Given the description of an element on the screen output the (x, y) to click on. 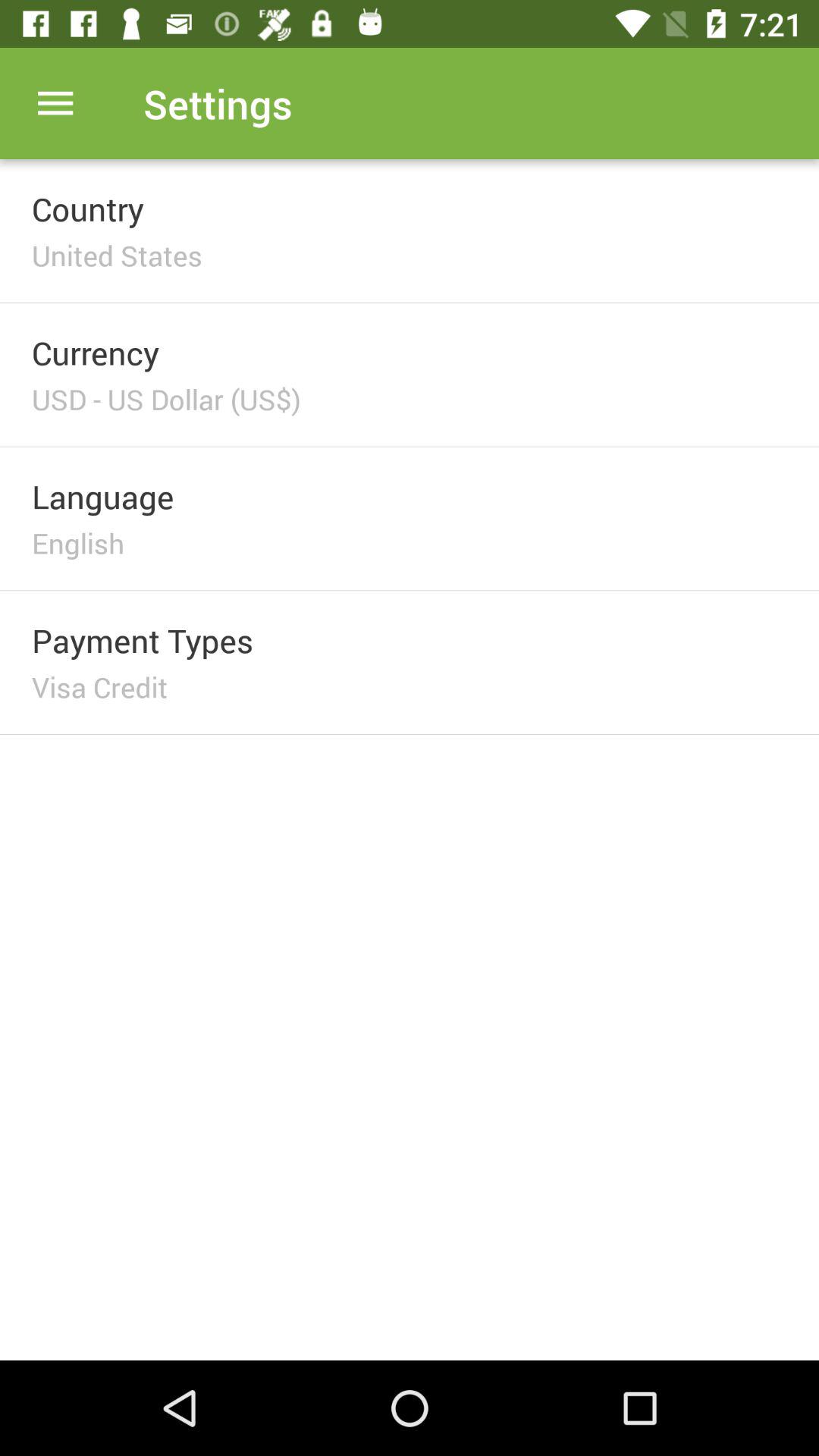
click for more option (55, 103)
